Given the description of an element on the screen output the (x, y) to click on. 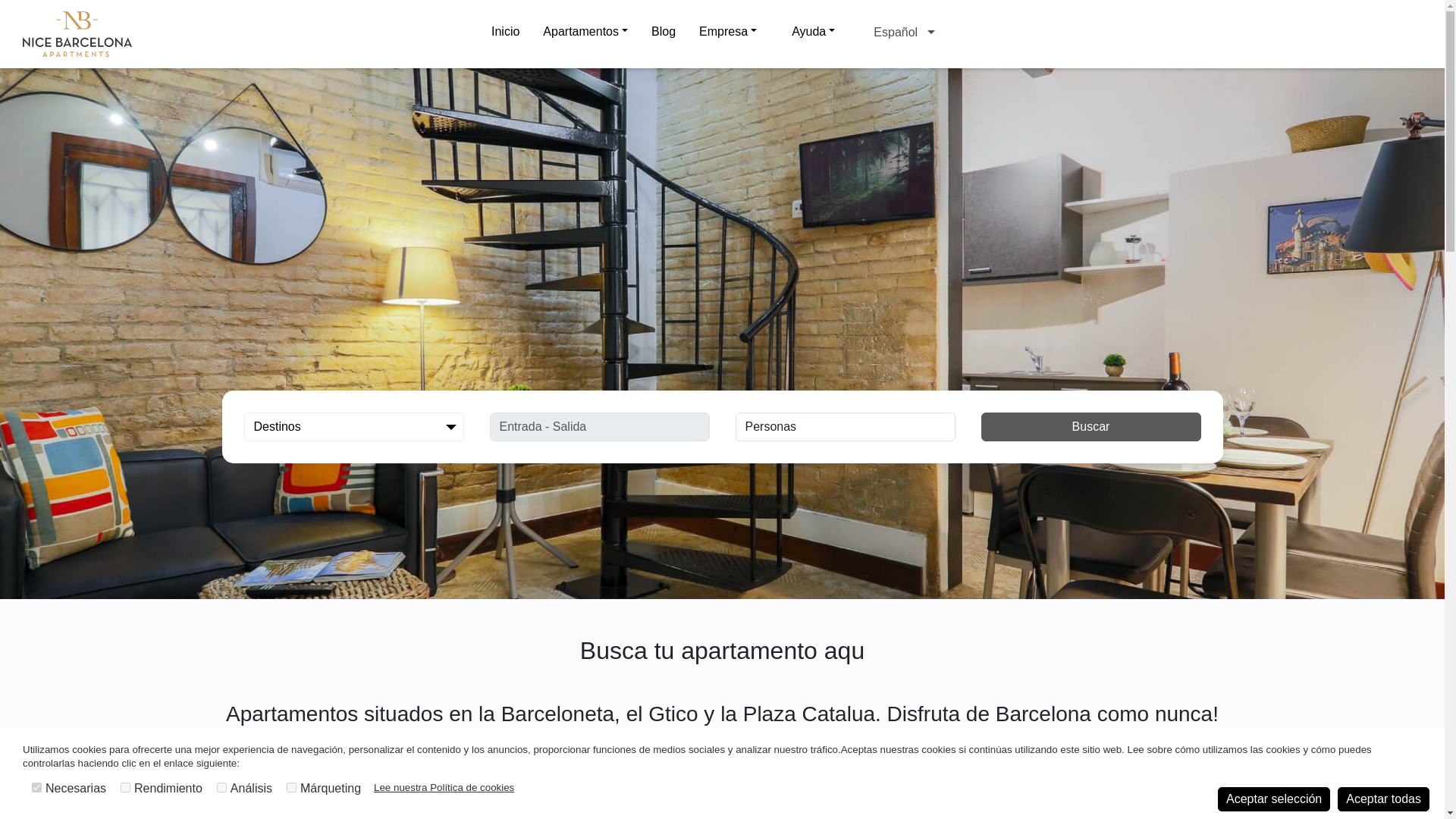
on (291, 787)
Ayuda (813, 31)
Inicio (504, 34)
Apartamentos (585, 31)
Aceptar todas (1383, 799)
Buscar (1091, 426)
on (221, 787)
Logo (77, 33)
on (37, 787)
Empresa (727, 31)
